Given the description of an element on the screen output the (x, y) to click on. 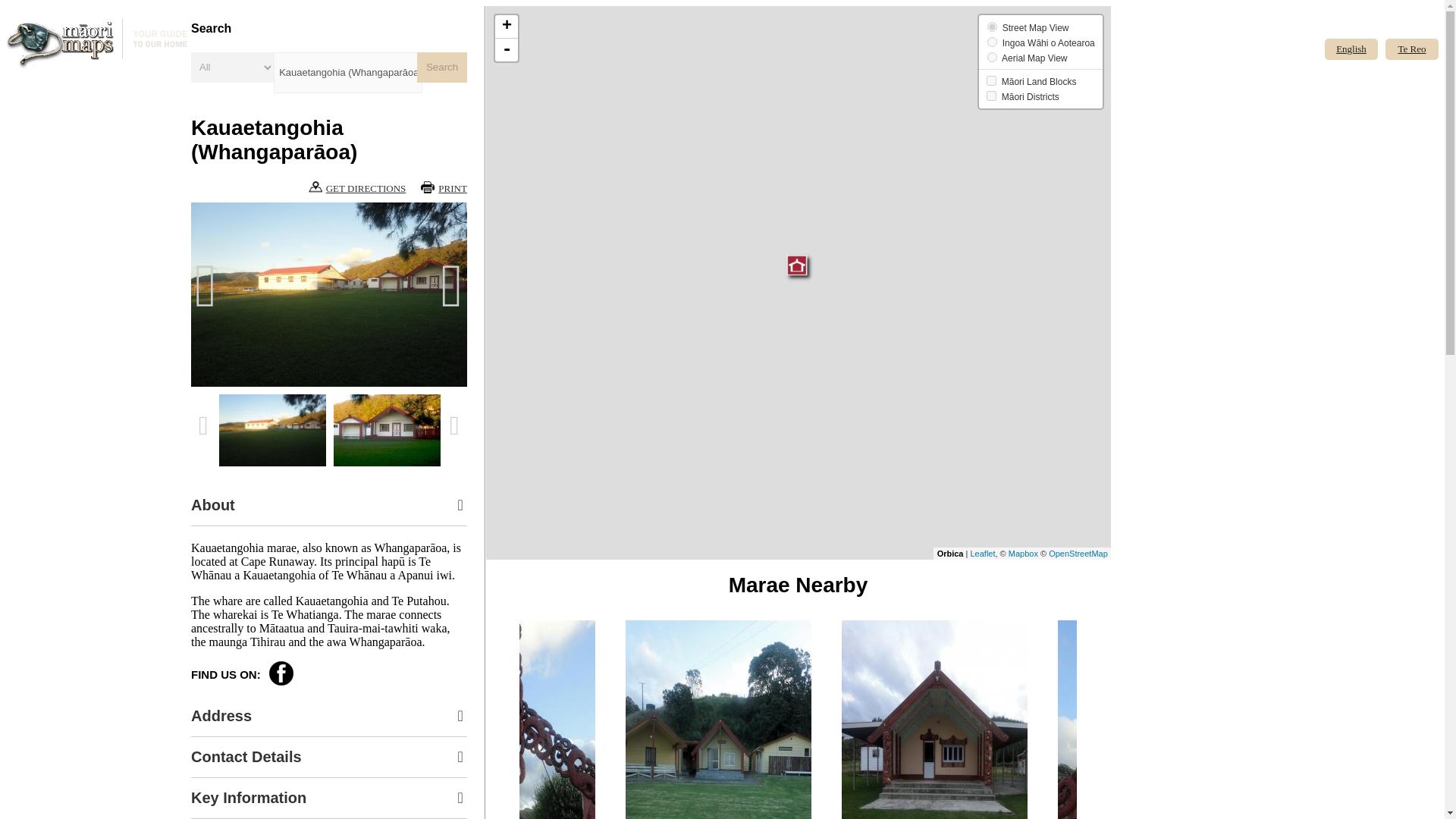
Orbica (950, 552)
FOR MARAE (1170, 109)
Zoom out (506, 49)
Zoom in (506, 26)
Home (97, 45)
About (328, 505)
Search (440, 67)
on (991, 80)
Key Information (328, 797)
PRINT (443, 188)
Contact Details (328, 756)
INFO (1152, 84)
HOME (1155, 36)
GET DIRECTIONS (357, 188)
